Given the description of an element on the screen output the (x, y) to click on. 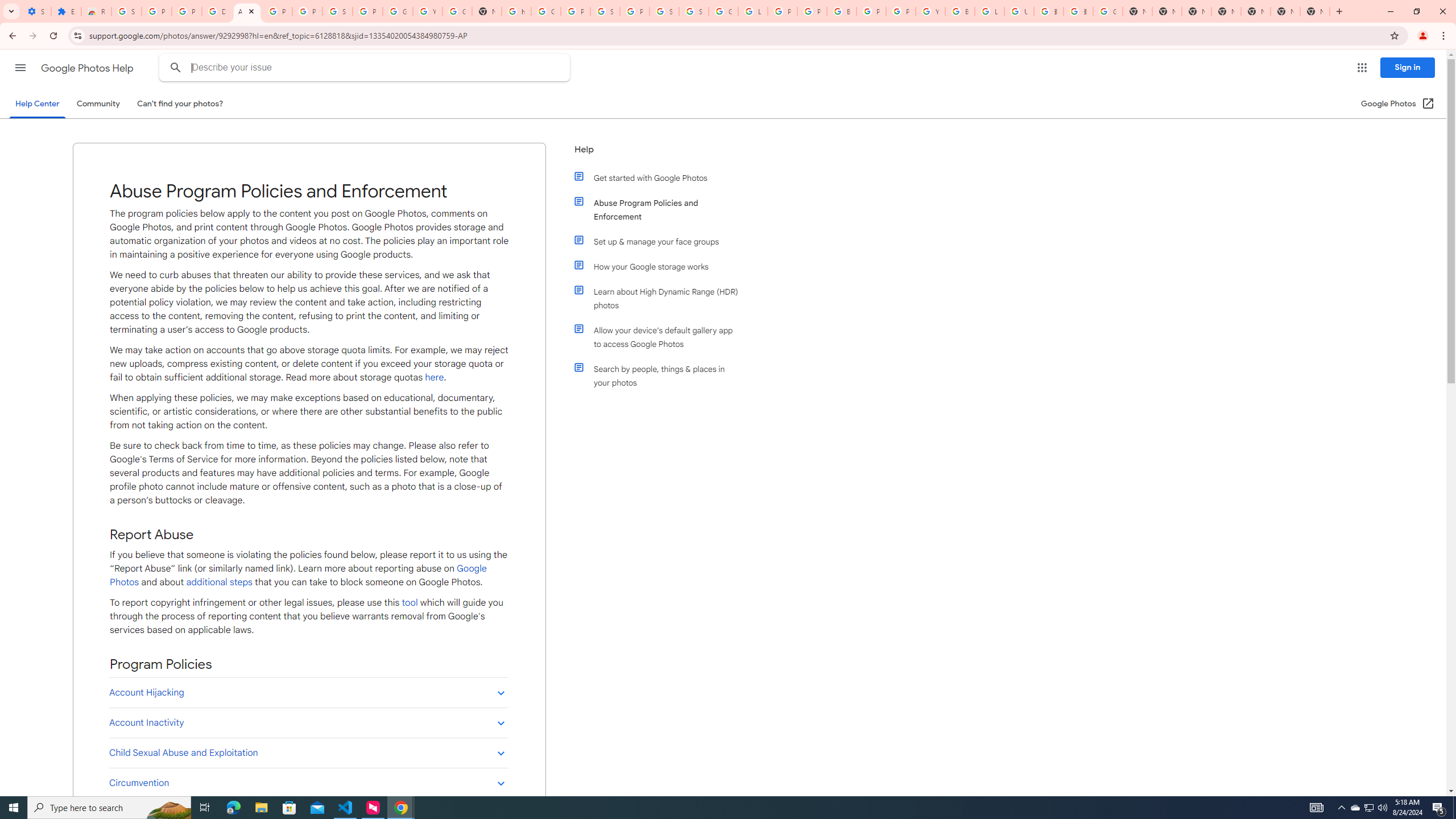
Main menu (20, 67)
Account Inactivity (308, 722)
Abuse Program Policies and Enforcement - Google Photos Help (247, 11)
Get started with Google Photos (661, 177)
Privacy Help Center - Policies Help (811, 11)
additional steps (218, 582)
Google Images (1107, 11)
